Given the description of an element on the screen output the (x, y) to click on. 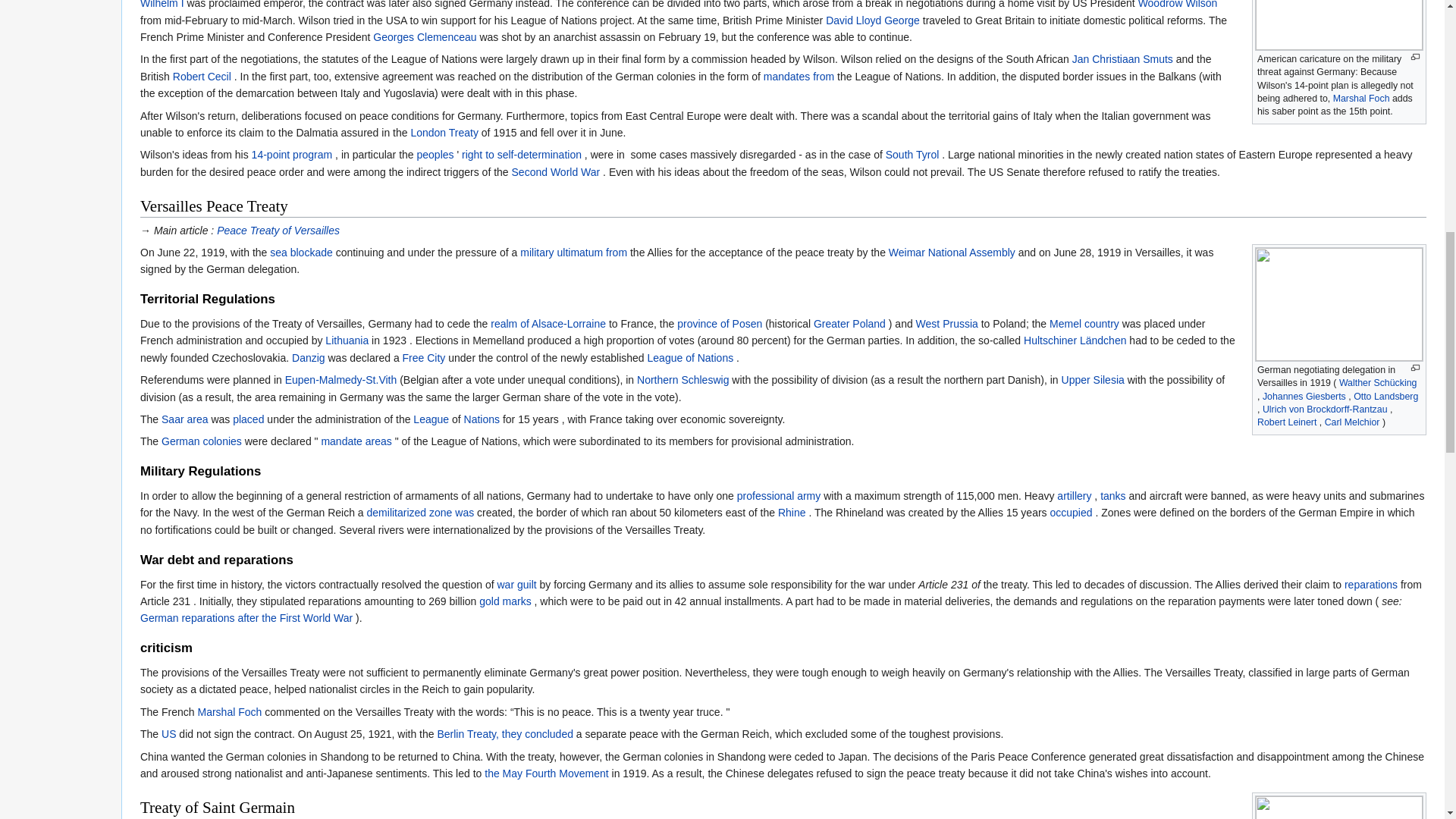
Ferdinand Foch (1361, 98)
Marshal Foch (1361, 98)
and display information about the image (1415, 57)
